Given the description of an element on the screen output the (x, y) to click on. 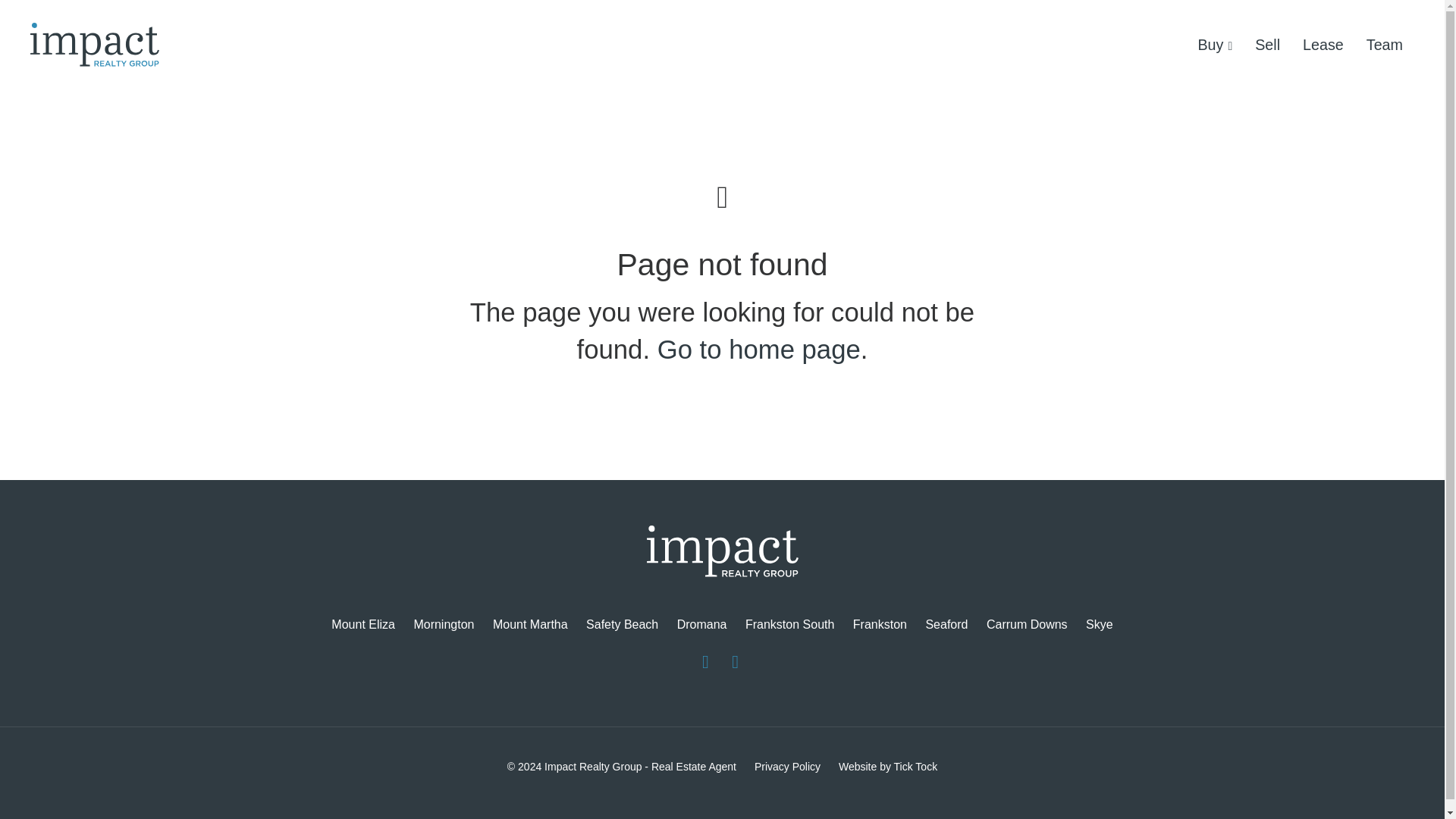
Safety Beach (621, 625)
Like Impact Realty Group - Real Estate Agent on Facebook (705, 661)
Website by Tick Tock (887, 766)
Mornington (443, 625)
Mount Martha (529, 625)
Frankston (879, 625)
Follow Impact Realty Group - Real Estate Agent on Instagram (734, 661)
Impact Realty Group (721, 554)
Go to home page (759, 348)
Mount Eliza (363, 625)
